Given the description of an element on the screen output the (x, y) to click on. 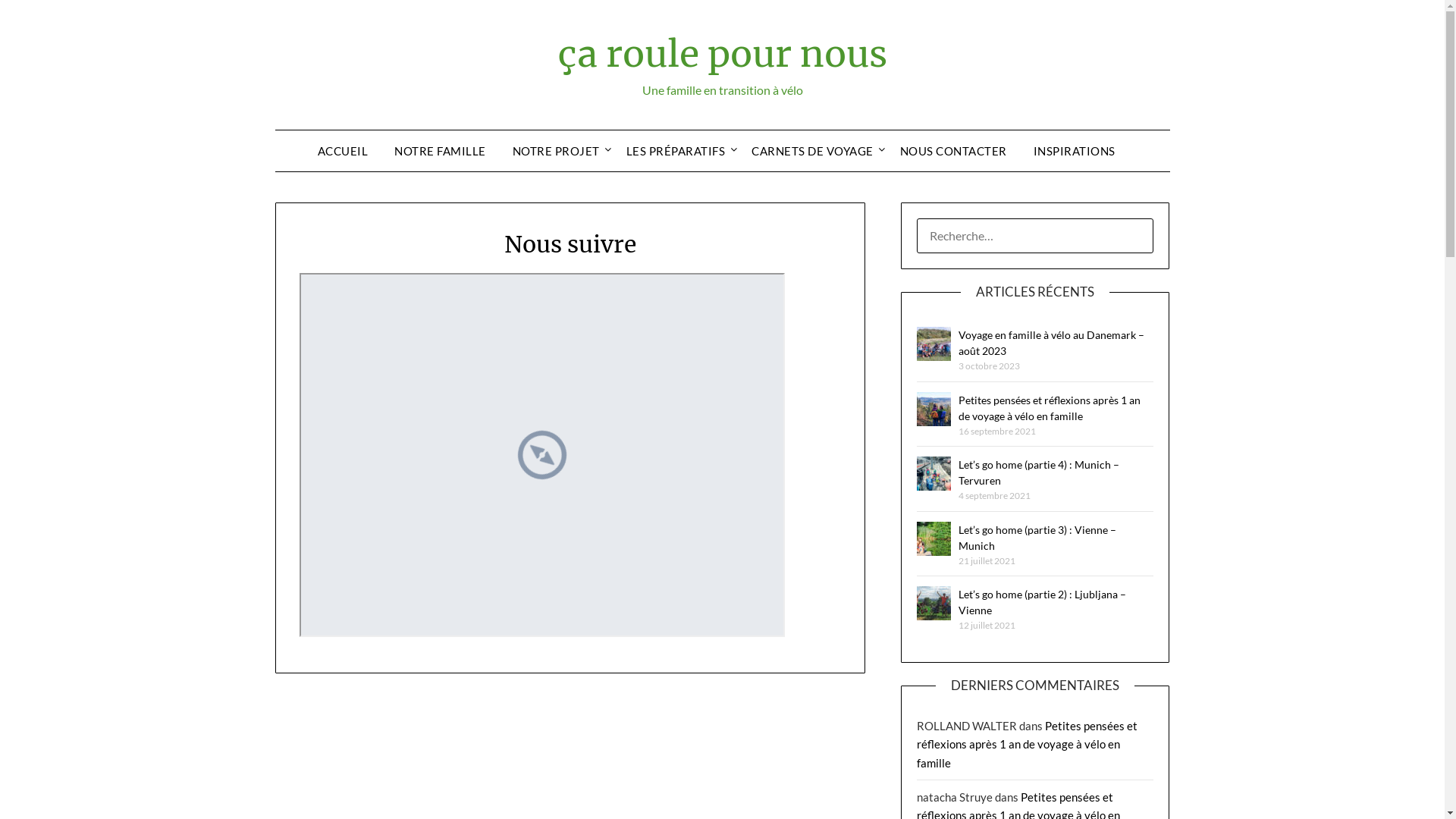
Rechercher Element type: text (50, 21)
NOTRE FAMILLE Element type: text (440, 150)
INSPIRATIONS Element type: text (1073, 150)
NOUS CONTACTER Element type: text (952, 150)
CARNETS DE VOYAGE Element type: text (812, 150)
NOTRE PROJET Element type: text (555, 150)
ACCUEIL Element type: text (347, 150)
